Given the description of an element on the screen output the (x, y) to click on. 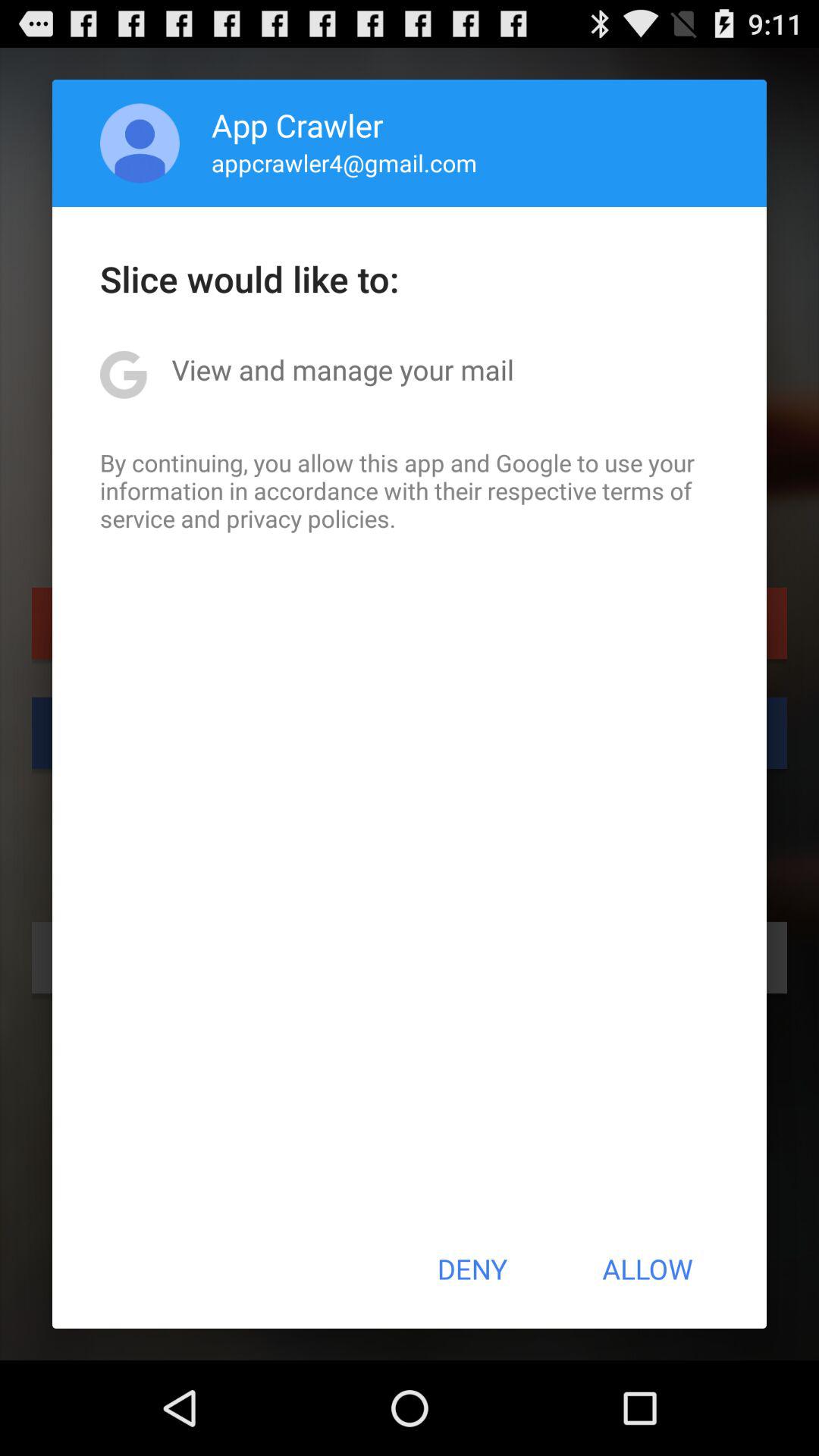
click icon next to app crawler (139, 143)
